Given the description of an element on the screen output the (x, y) to click on. 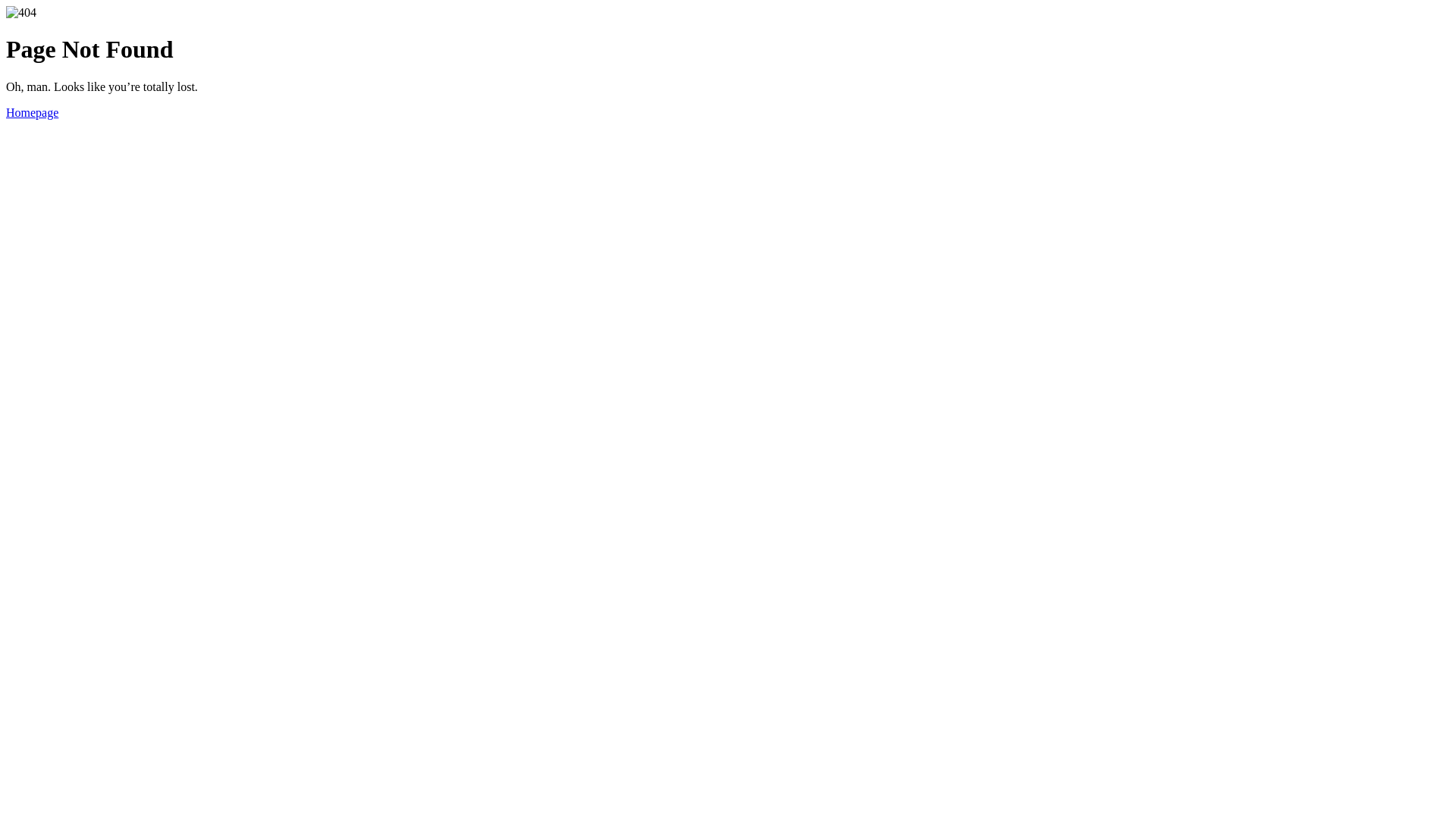
Homepage Element type: text (32, 112)
